Given the description of an element on the screen output the (x, y) to click on. 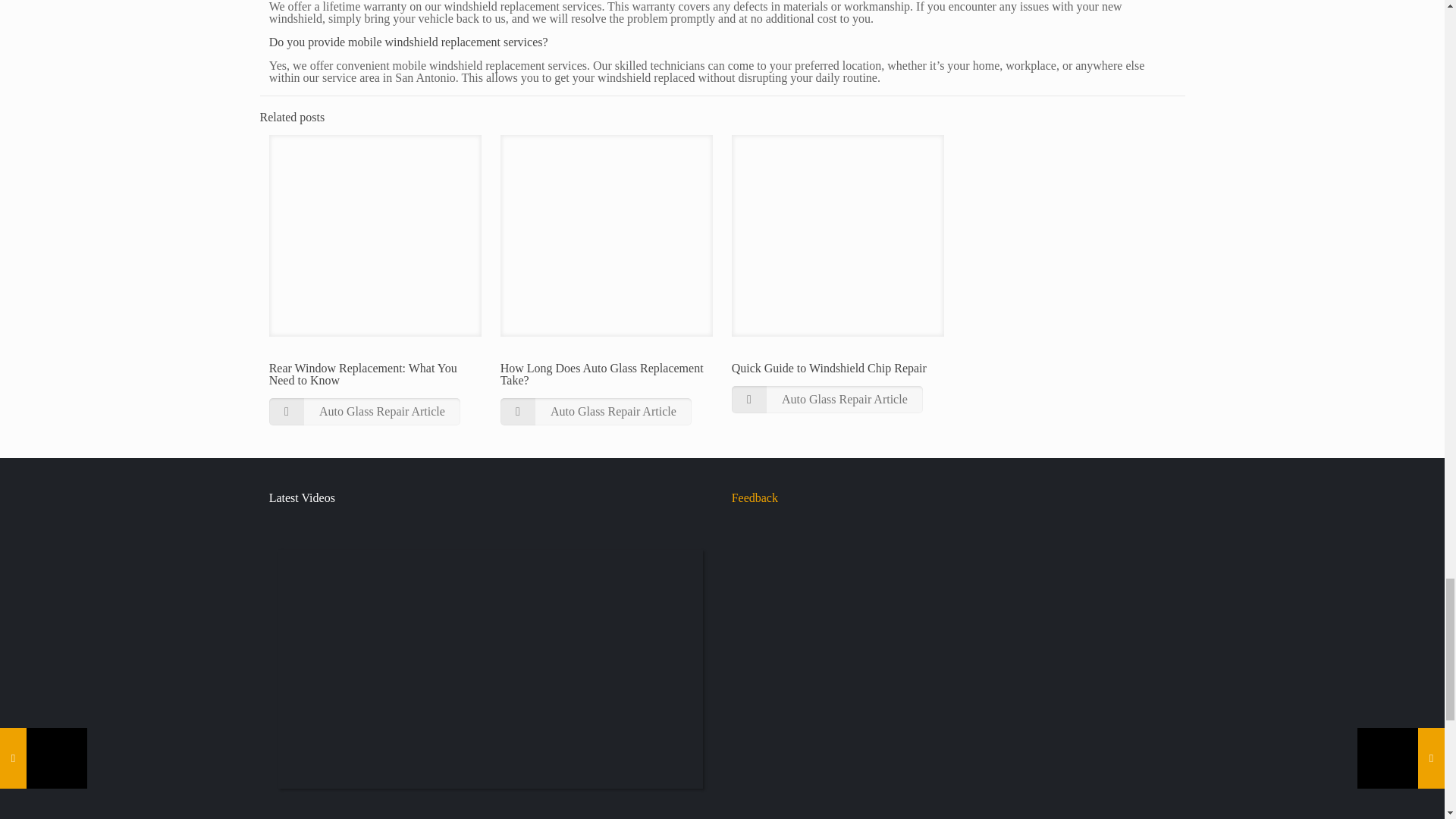
Quick Guide to Windshield Chip Repair (829, 367)
How Long Does Auto Glass Replacement Take? (601, 373)
Auto Glass Repair Article (364, 411)
Auto Glass Repair Article (595, 411)
Rear Window Replacement: What You Need to Know (363, 373)
Auto Glass Repair Article (827, 399)
